Given the description of an element on the screen output the (x, y) to click on. 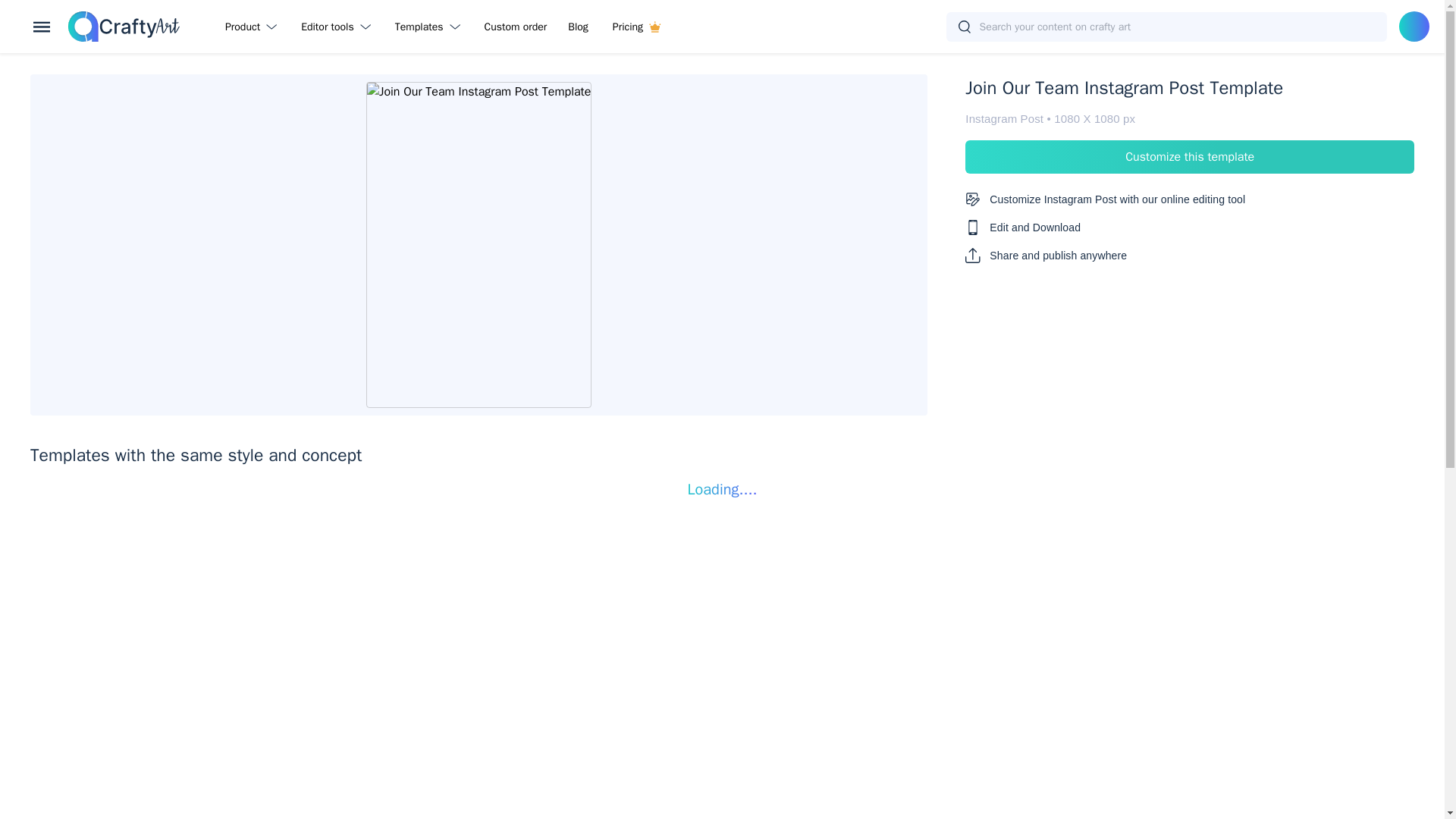
Blog (577, 26)
Pricing (635, 26)
Templates (430, 26)
Product (253, 26)
Editor tools (338, 26)
Custom order (516, 26)
